Given the description of an element on the screen output the (x, y) to click on. 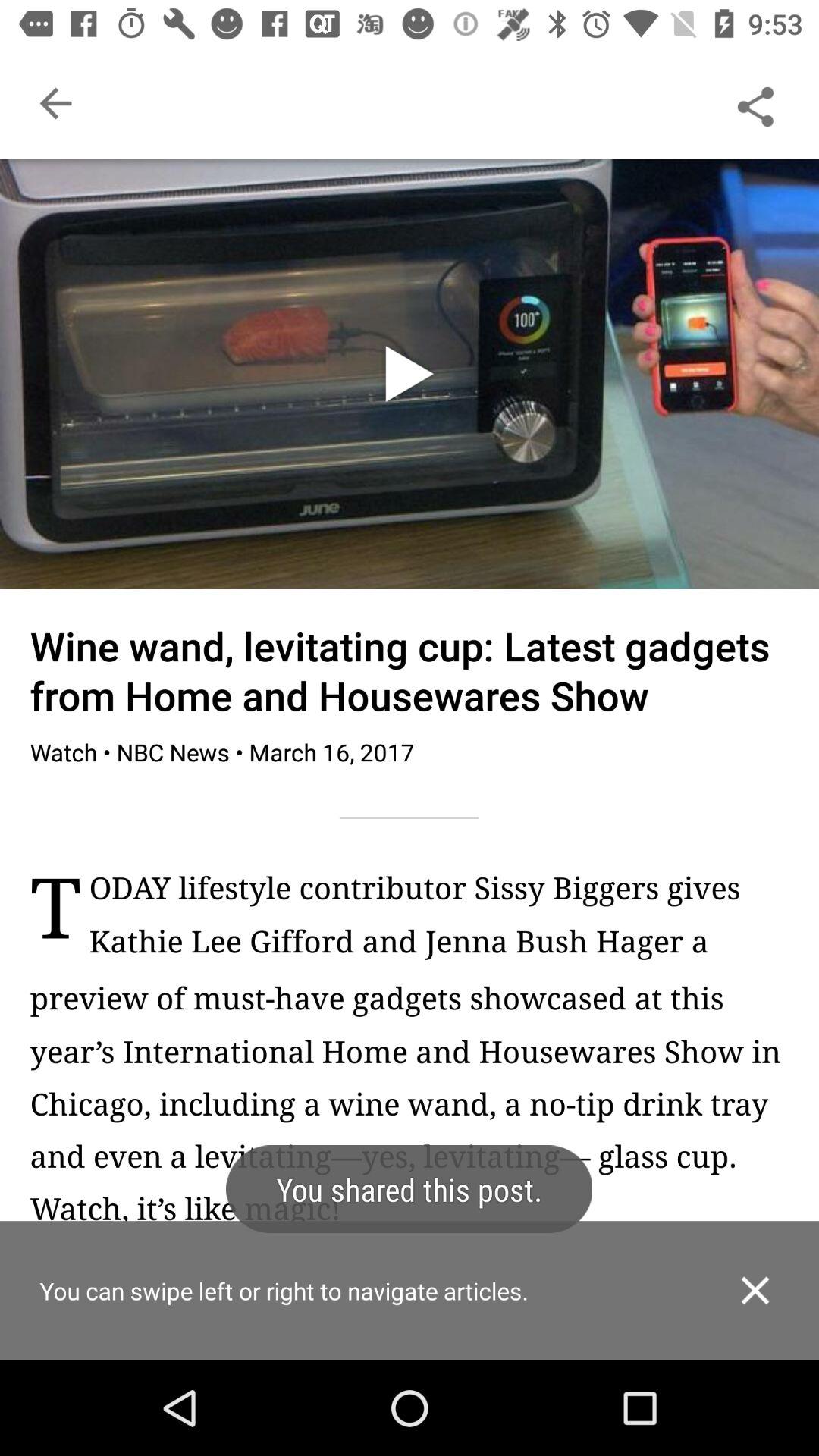
play (408, 373)
